Given the description of an element on the screen output the (x, y) to click on. 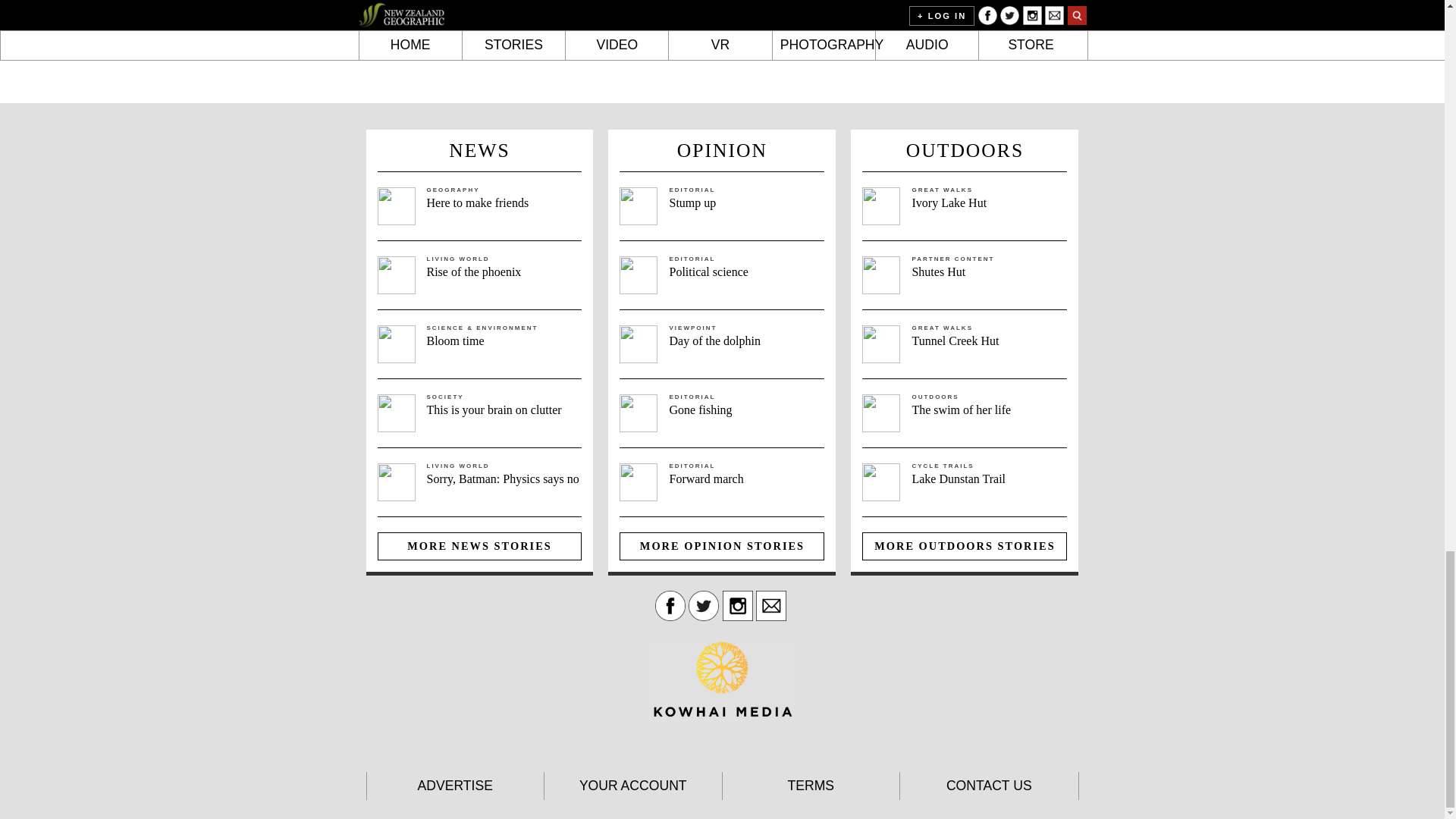
Posts by Vaughan Yarwood (985, 2)
